Given the description of an element on the screen output the (x, y) to click on. 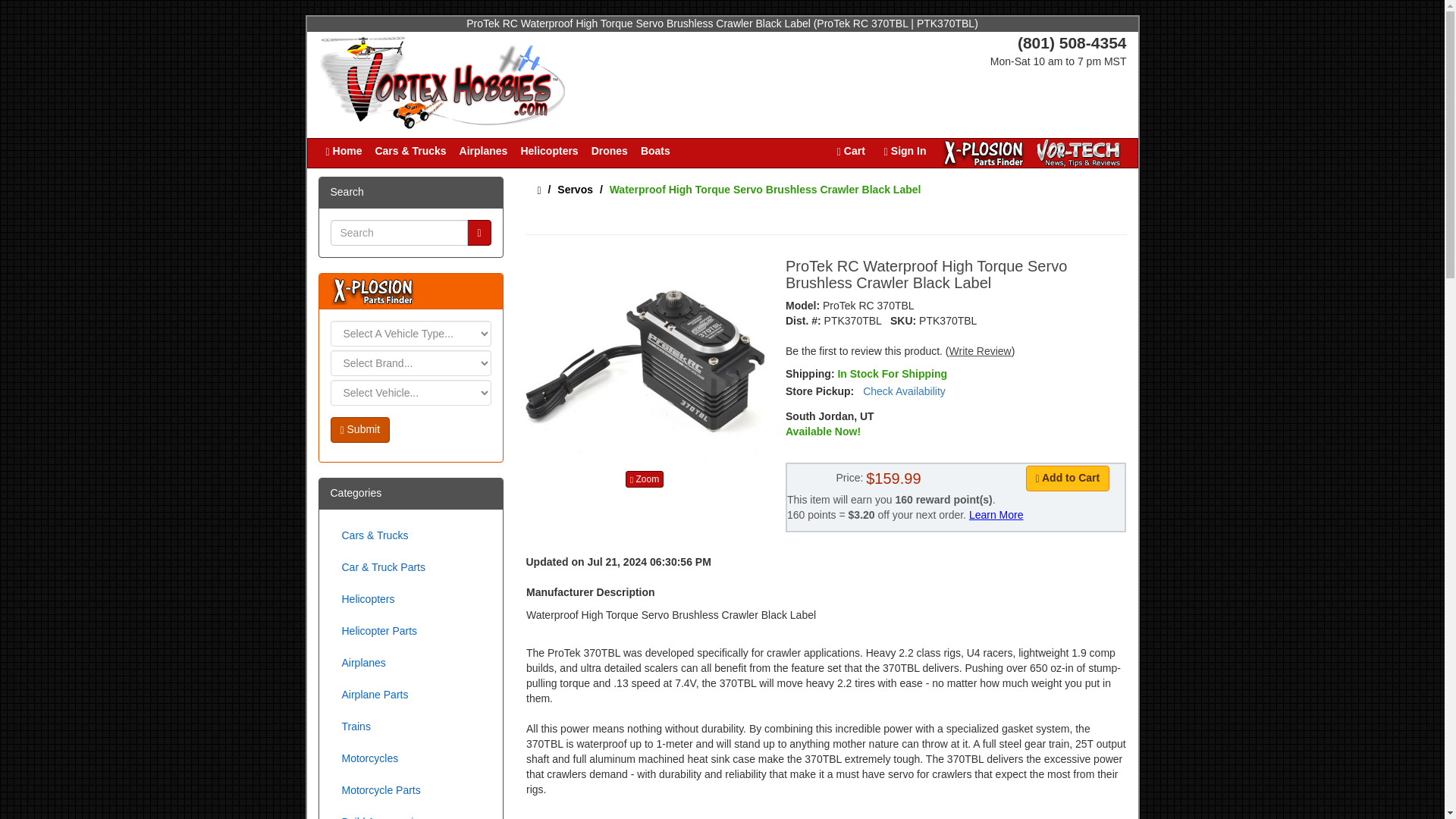
Boats (655, 151)
Sign In (905, 151)
Home (343, 151)
Helicopters (549, 151)
Vor-Tech (1078, 153)
Drones (609, 151)
Vortex Hobbies (441, 80)
X-Plosion Parts Finder (982, 153)
Cart (851, 151)
Airplanes (483, 151)
